Given the description of an element on the screen output the (x, y) to click on. 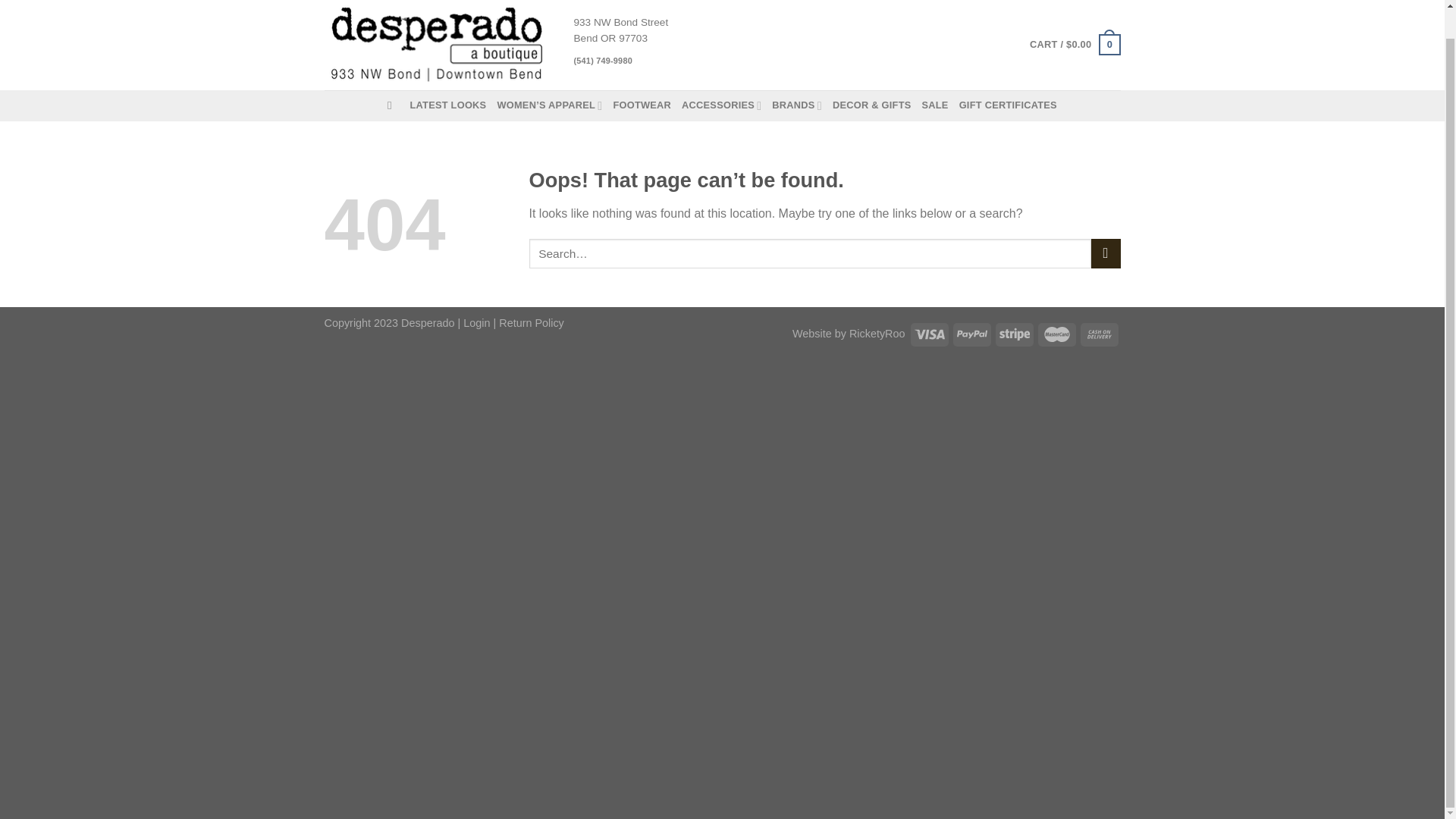
BRANDS (796, 105)
Cart (1074, 44)
ACCESSORIES (721, 105)
FOOTWEAR (641, 105)
LATEST LOOKS (447, 105)
Desperado Boutique - Bend OR (437, 44)
